Given the description of an element on the screen output the (x, y) to click on. 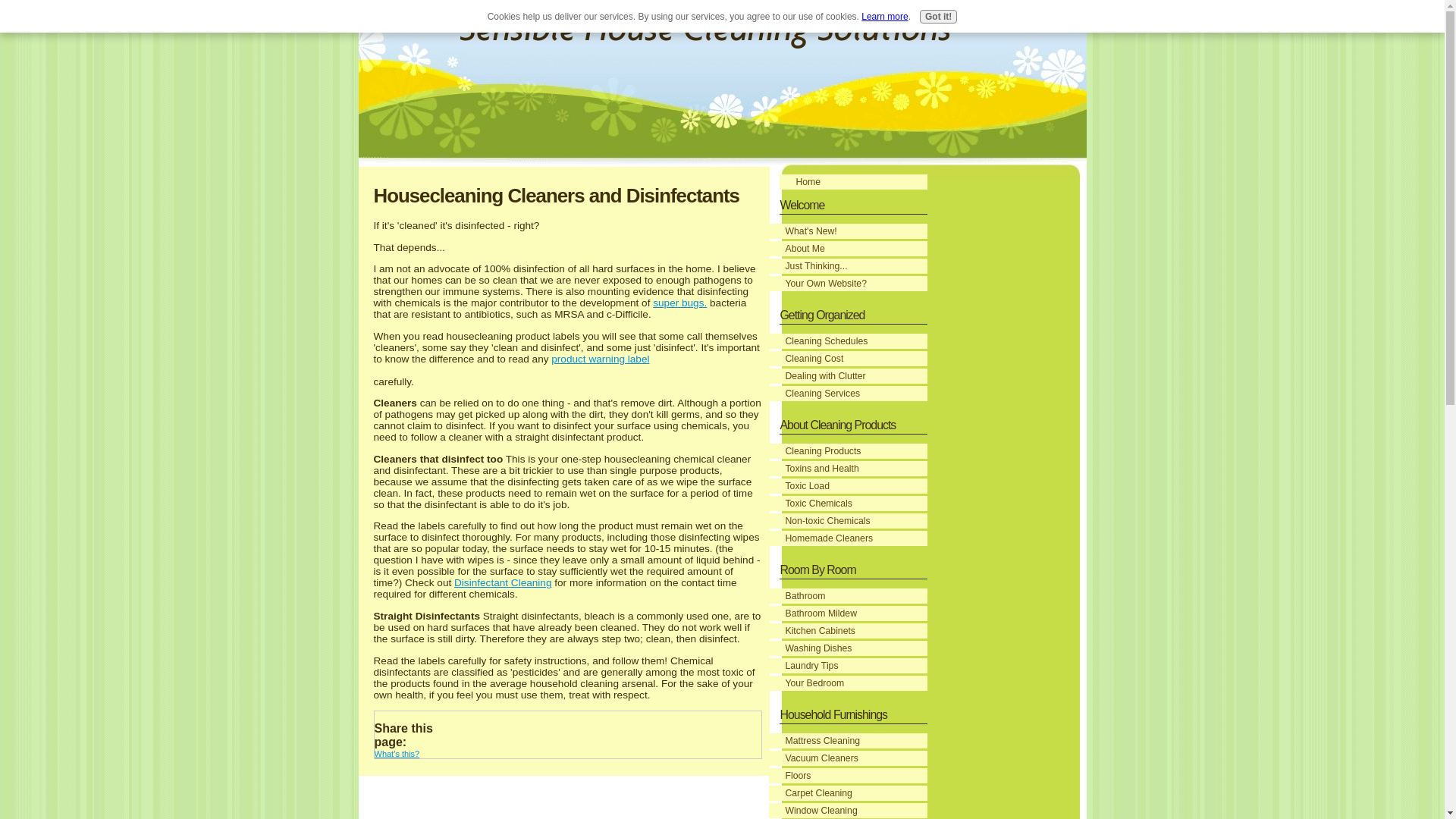
Home (852, 181)
Toxins and Health (847, 468)
Vacuum Cleaners (847, 758)
Cleaning Cost (847, 358)
Kitchen Cabinets (847, 630)
Floors (847, 775)
product warning label (600, 358)
Bathroom (847, 595)
Washing Dishes (847, 648)
Homemade Cleaners (847, 538)
Toxic Load (847, 485)
Cleaning Products (847, 450)
Cleaning Schedules (847, 340)
What's New! (847, 231)
Just Thinking... (847, 265)
